Given the description of an element on the screen output the (x, y) to click on. 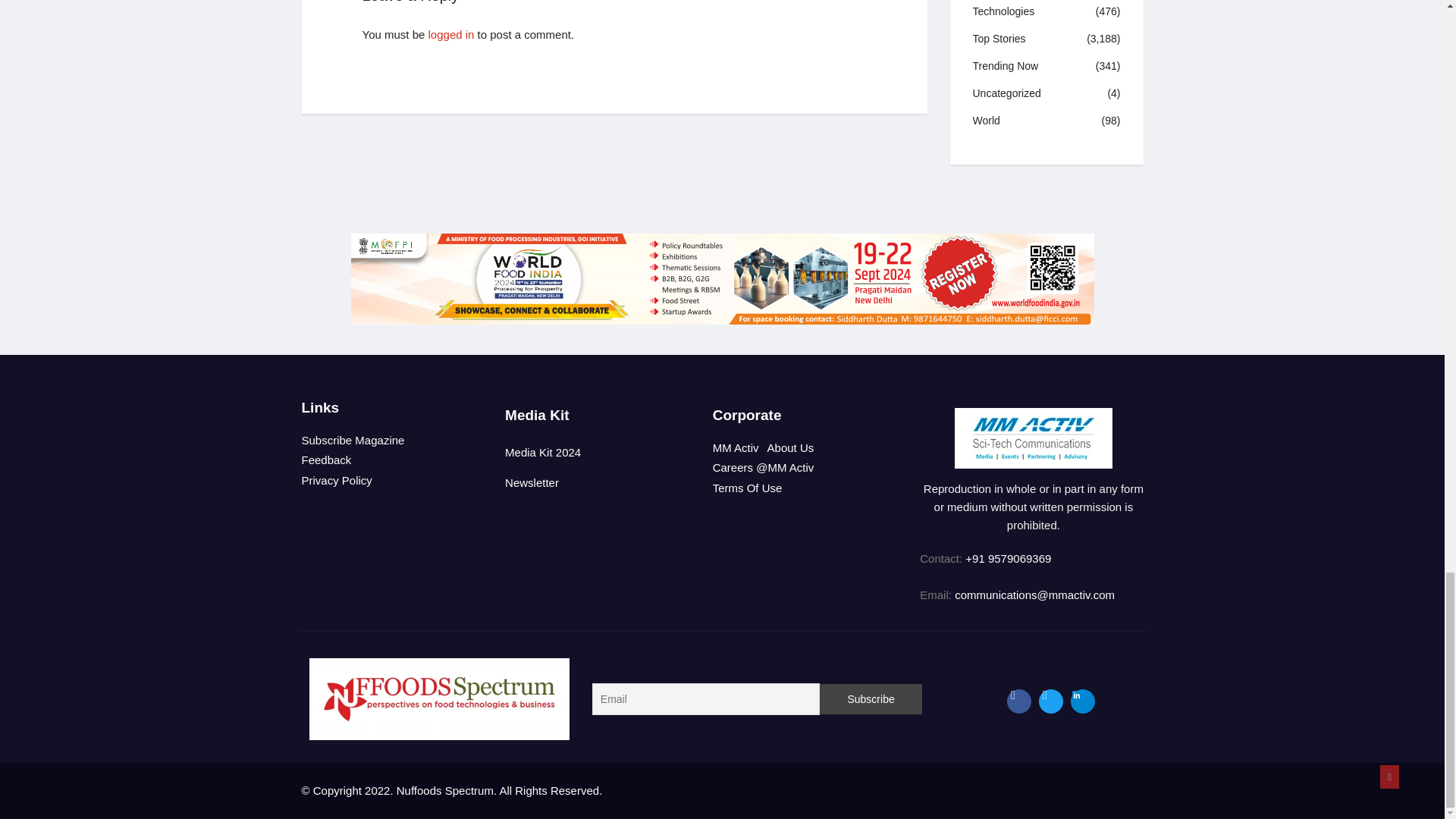
Subscribe (871, 698)
